Given the description of an element on the screen output the (x, y) to click on. 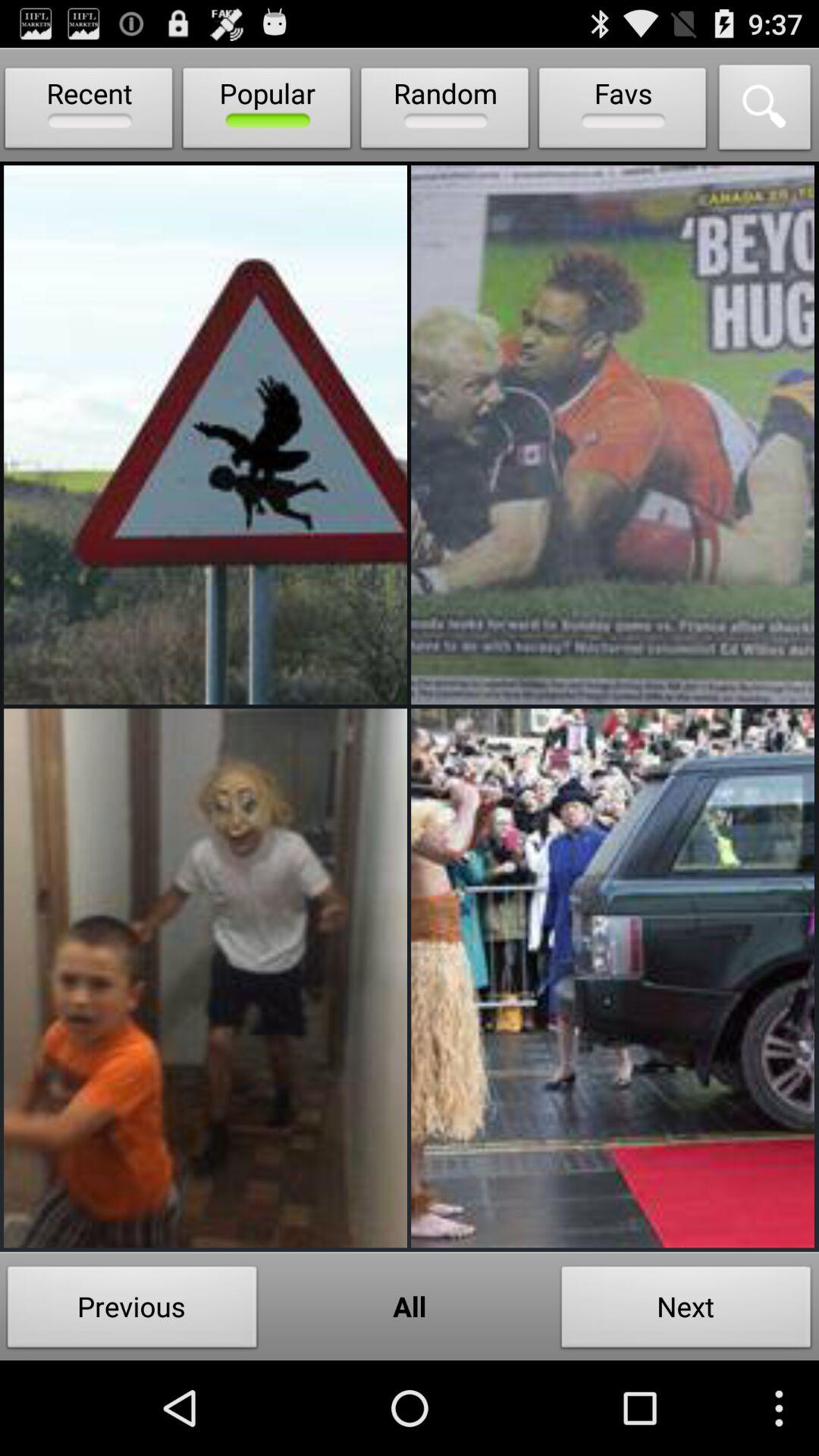
open the item to the right of the random icon (622, 111)
